Given the description of an element on the screen output the (x, y) to click on. 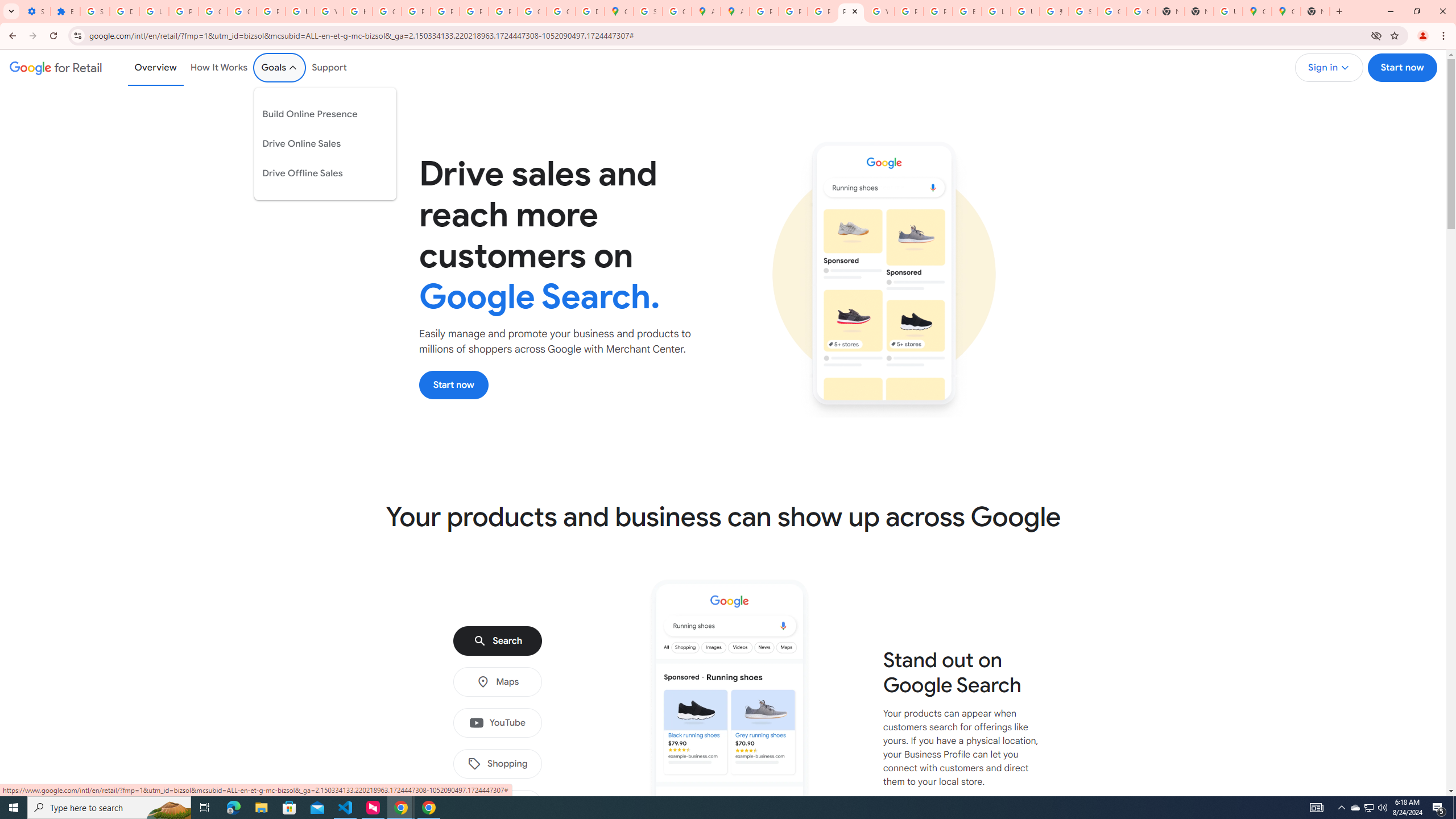
Sign in - Google Accounts (1082, 11)
Google Account Help (212, 11)
How It Works (218, 67)
New Tab (1198, 11)
Sign in - Google Accounts (95, 11)
